Given the description of an element on the screen output the (x, y) to click on. 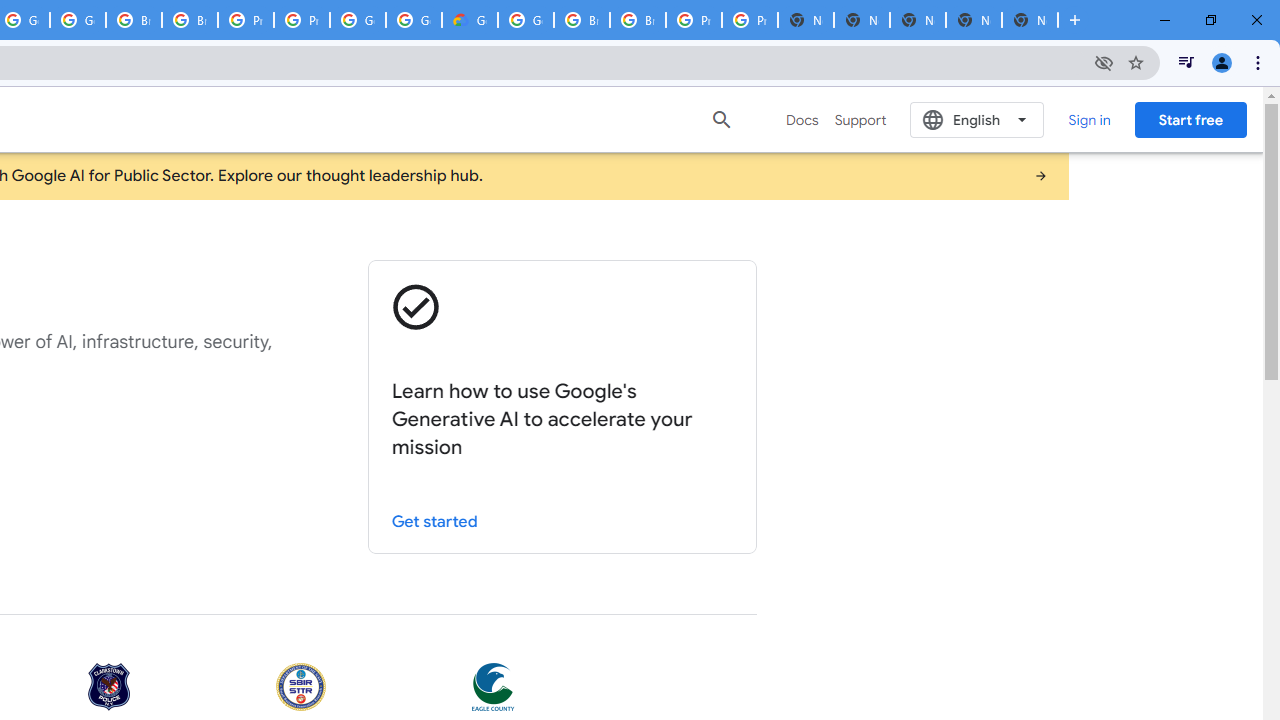
Eagle County (493, 687)
New Tab (1030, 20)
